Given the description of an element on the screen output the (x, y) to click on. 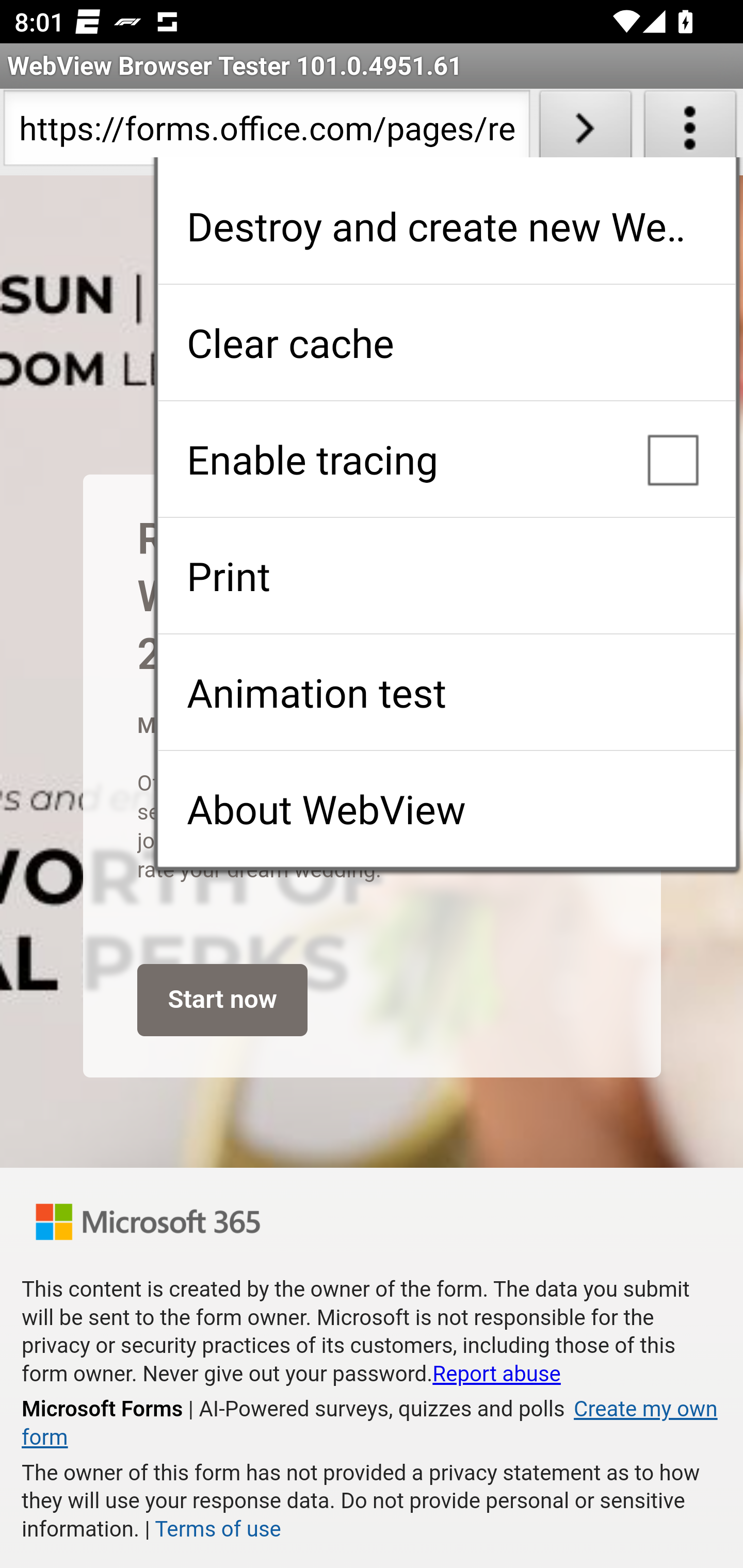
Destroy and create new WebView (446, 225)
Clear cache (446, 342)
Enable tracing (446, 459)
Print (446, 575)
Animation test (446, 692)
About WebView (446, 809)
